Given the description of an element on the screen output the (x, y) to click on. 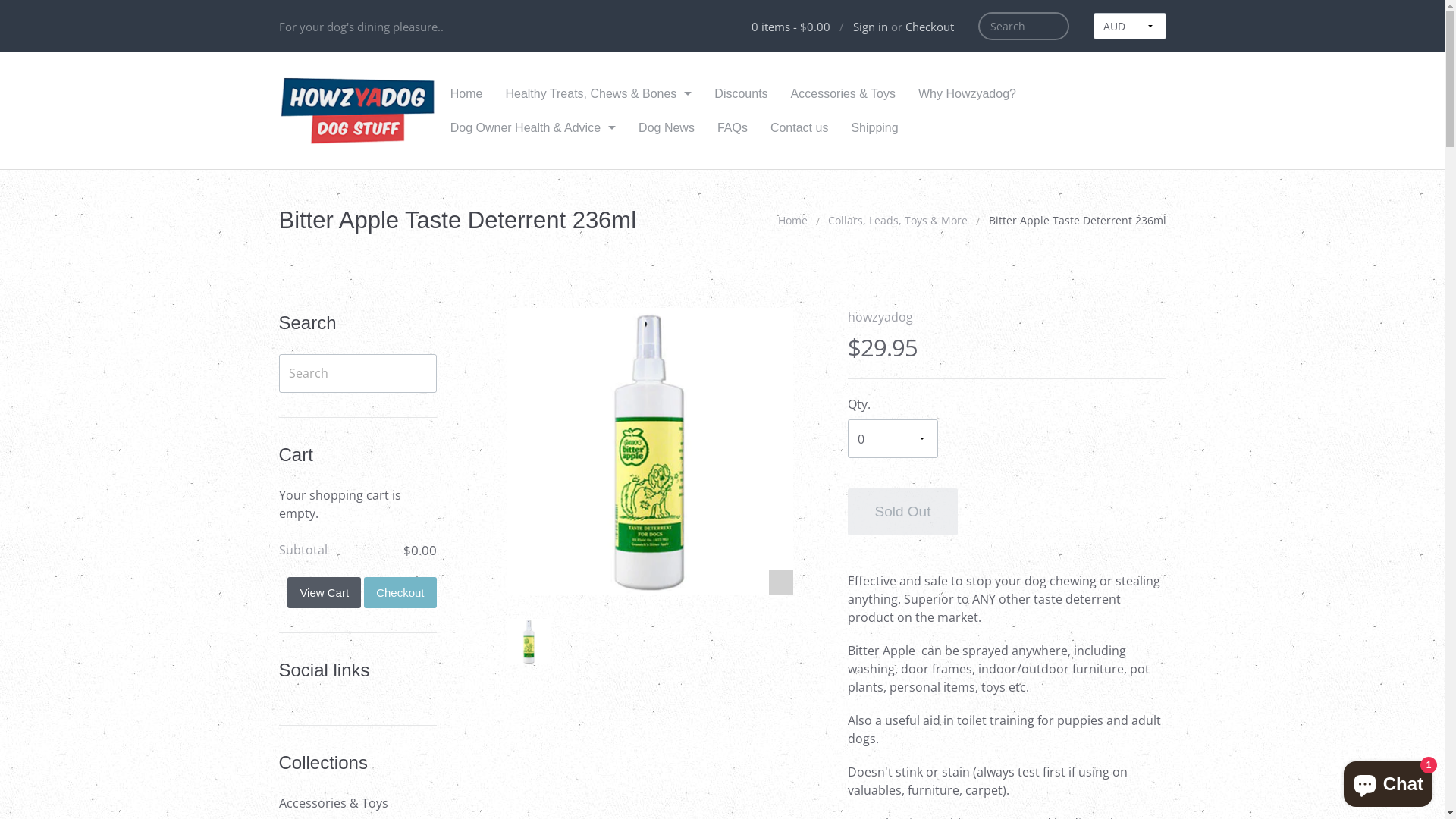
Checkout Element type: text (400, 592)
Bitter Apple Taste Deterrent 236ml Element type: hover (529, 641)
Accessories & Toys Element type: text (842, 93)
Shopify online store chat Element type: hover (1388, 780)
Sanitiser Element type: text (533, 166)
Gloves Element type: text (533, 312)
Shipping Element type: text (874, 127)
Toilet Paper Element type: text (533, 195)
Why Howzyadog? Element type: text (966, 93)
FAQs Element type: text (732, 127)
howzyadog Element type: text (880, 316)
Sign in Element type: text (869, 25)
View Cart Element type: text (323, 592)
Accessories & Toys Element type: text (357, 802)
Disinfectant Element type: text (533, 340)
Home Element type: text (466, 93)
Lamb Element type: text (597, 161)
Beef Element type: text (597, 190)
Kangaroo Element type: text (597, 219)
Checkout Element type: text (929, 25)
Variety Packs Element type: text (597, 277)
Dog News Element type: text (666, 127)
0 items - $0.00 Element type: text (789, 25)
Home Element type: text (792, 220)
Discounts Element type: text (740, 93)
Collars, Leads, Toys & More Element type: text (897, 220)
Sold Out Element type: text (902, 511)
Healthy Treats, Chews & Bones Element type: text (597, 93)
Dog Owner Health & Advice Element type: text (533, 127)
Pork Element type: text (597, 132)
HOWZYADOG Element type: hover (359, 110)
Contact us Element type: text (799, 127)
Chicken Element type: text (597, 249)
